Given the description of an element on the screen output the (x, y) to click on. 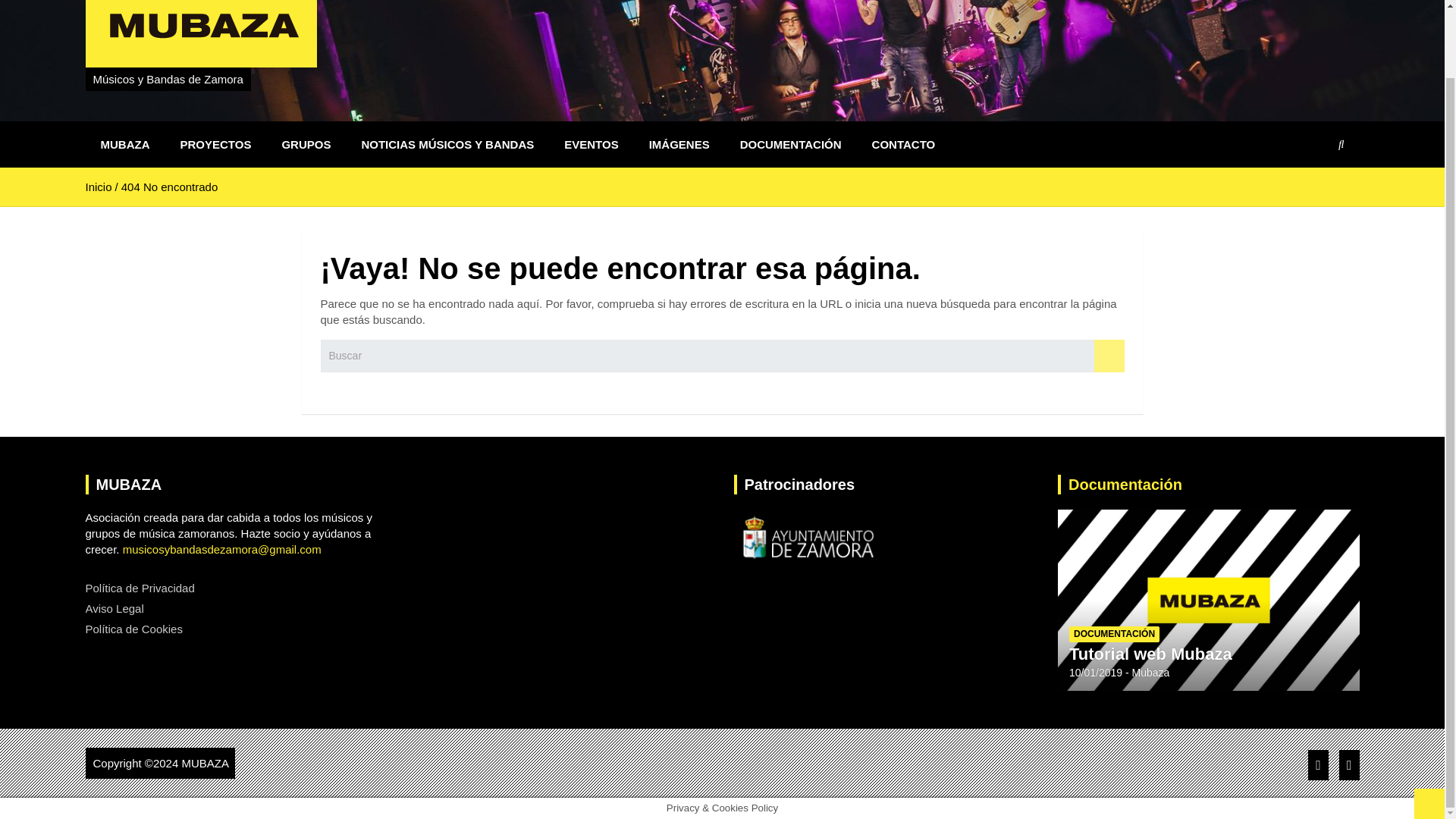
PROYECTOS (215, 144)
Buscar (1108, 355)
Tutorial web Mubaza (1149, 653)
Inicio (98, 186)
MUBAZA (204, 762)
CONTACTO (903, 144)
MUBAZA (204, 762)
MUBAZA (124, 144)
GRUPOS (306, 144)
Mubaza (1151, 672)
